Given the description of an element on the screen output the (x, y) to click on. 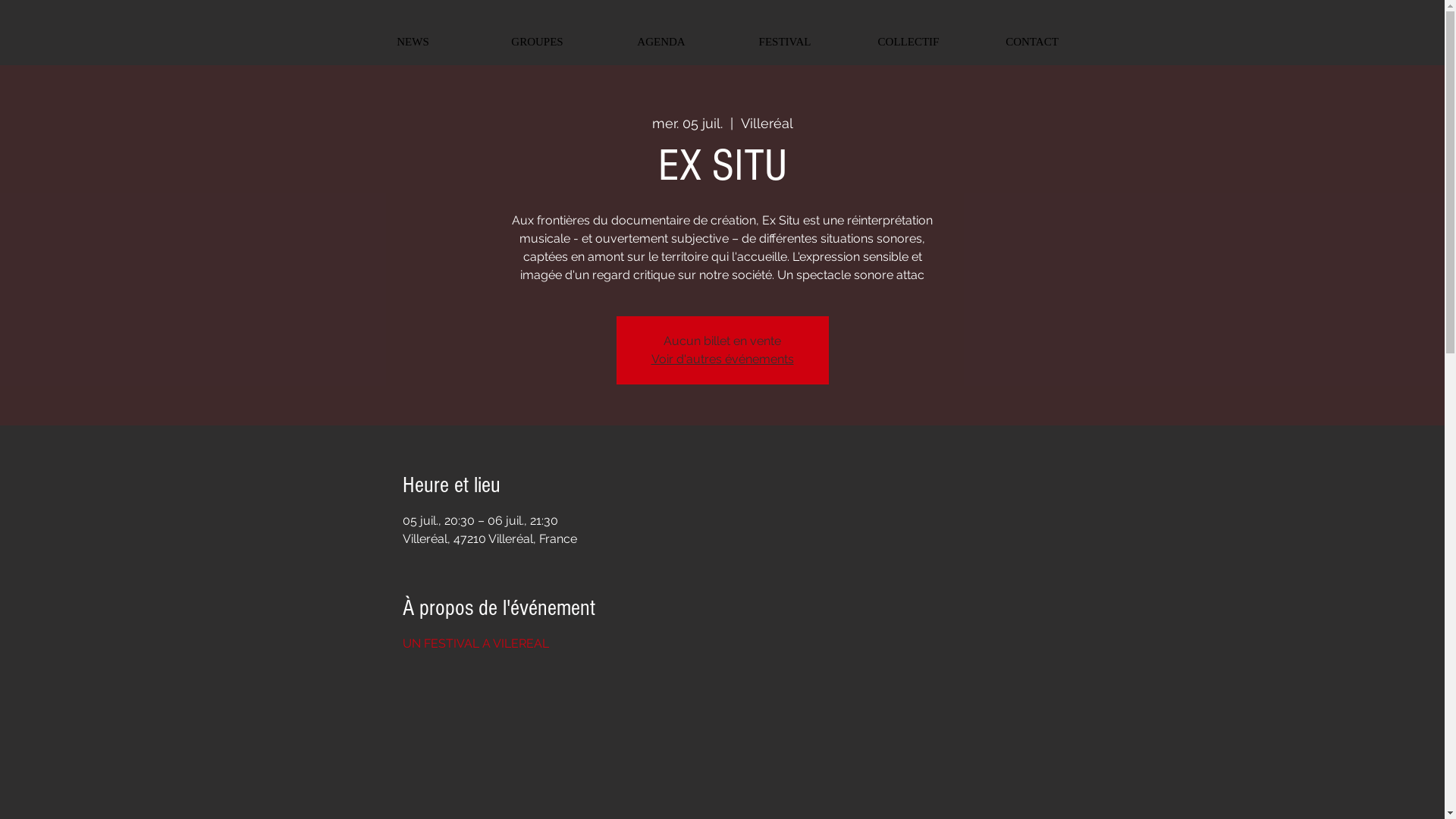
NEWS Element type: text (412, 41)
COLLECTIF Element type: text (907, 41)
GROUPES Element type: text (536, 41)
UN FESTIVAL A VILEREAL Element type: text (475, 643)
AGENDA Element type: text (660, 41)
CONTACT Element type: text (1032, 41)
FESTIVAL Element type: text (785, 41)
